Given the description of an element on the screen output the (x, y) to click on. 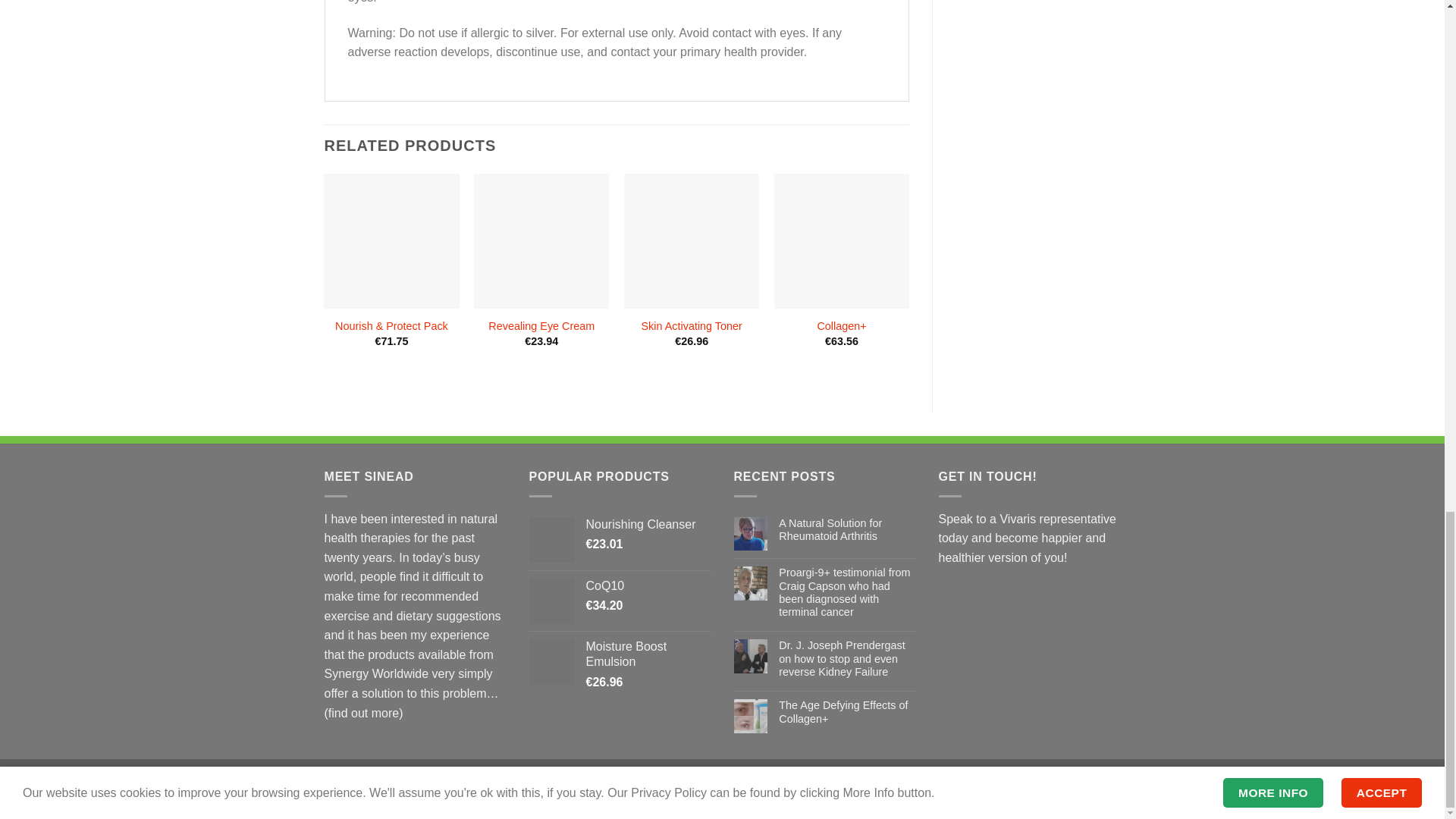
Digital Marketing Agency (805, 798)
Web Design (592, 798)
SEO (697, 798)
A Natural Solution for Rheumatoid Arthritis (846, 529)
